Given the description of an element on the screen output the (x, y) to click on. 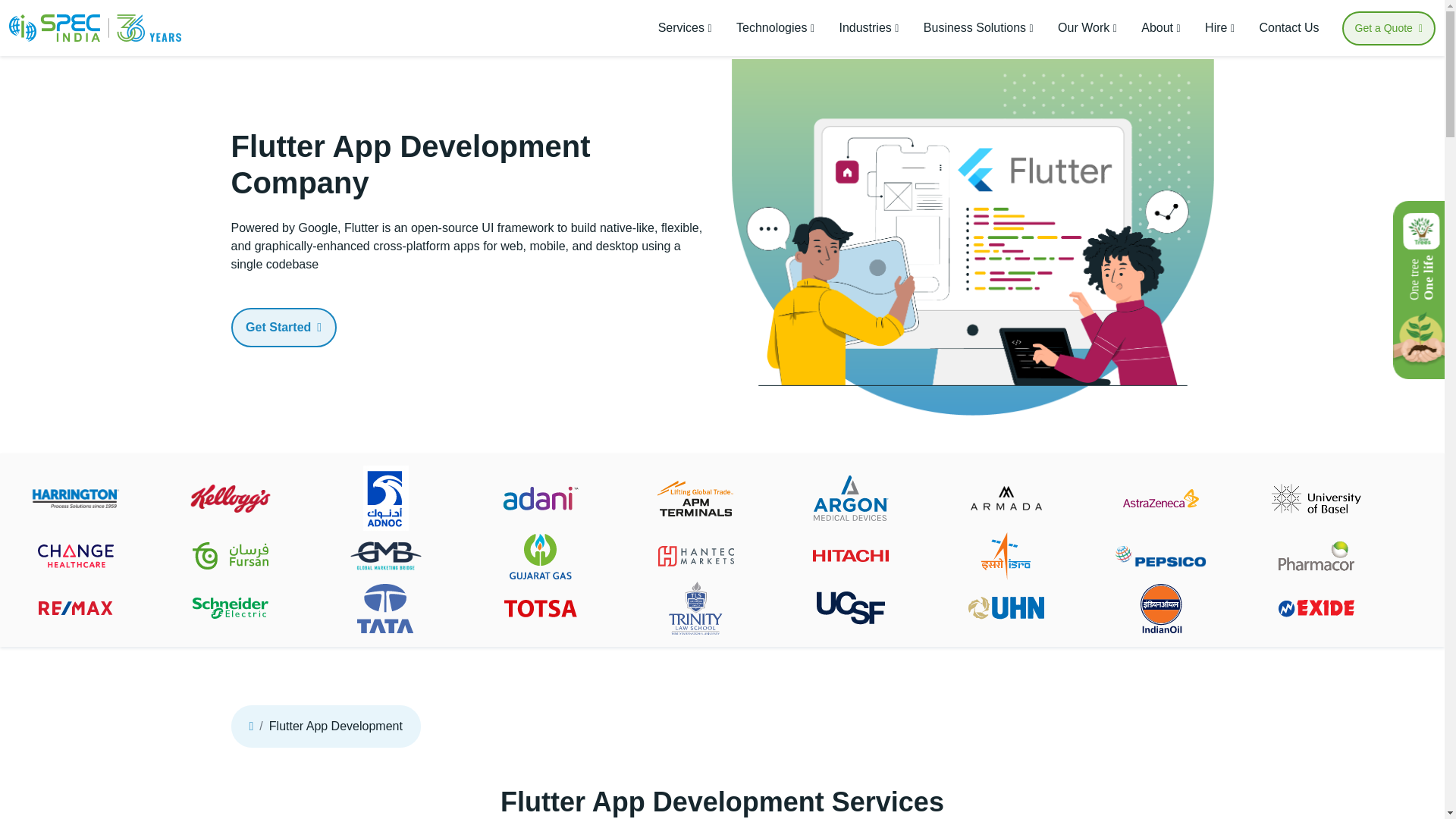
Technologies (775, 28)
Services (684, 28)
Get a Quote (1388, 27)
Get a Quote (1388, 27)
